Given the description of an element on the screen output the (x, y) to click on. 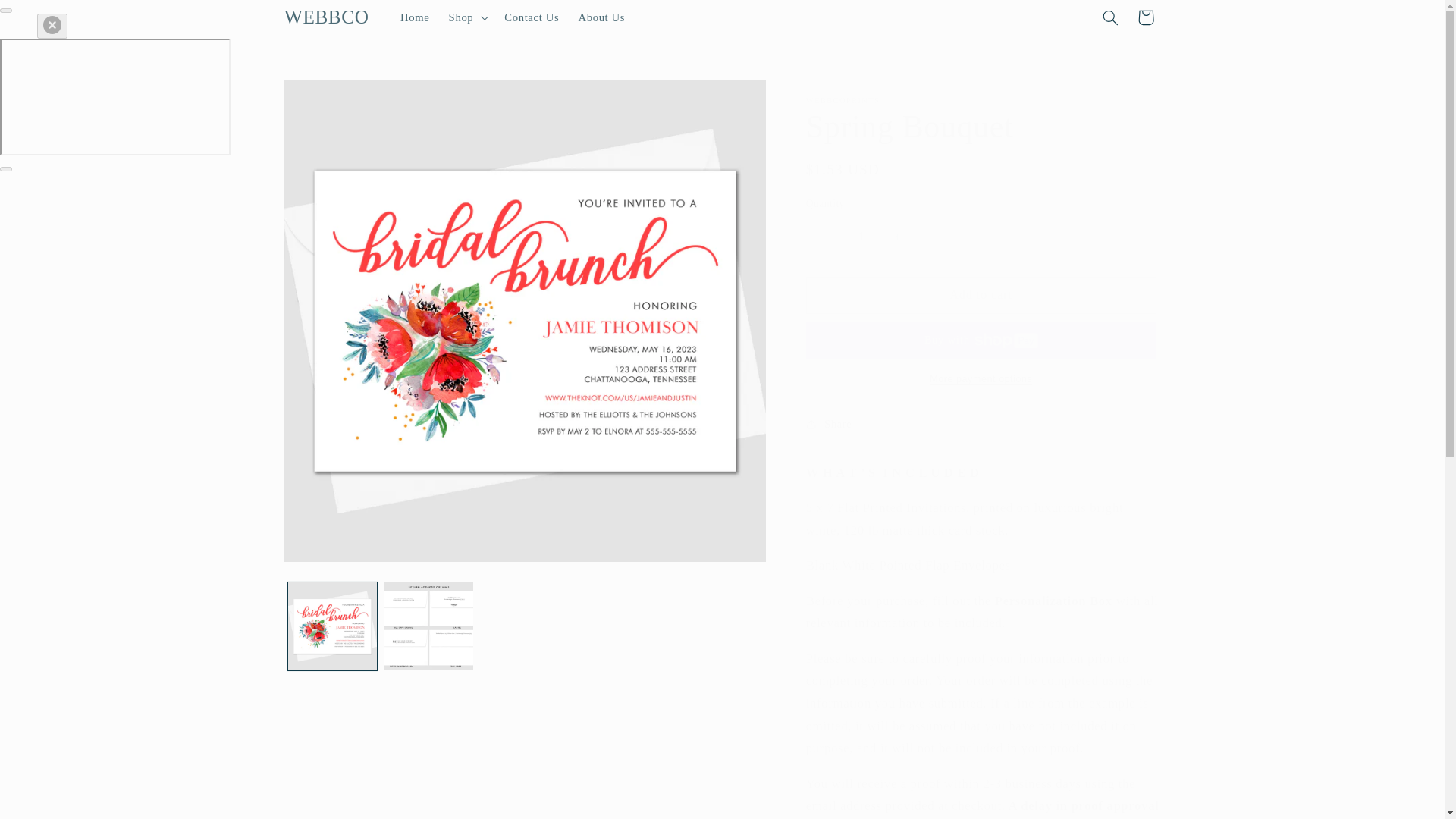
Skip to content (48, 18)
1 (861, 236)
